Given the description of an element on the screen output the (x, y) to click on. 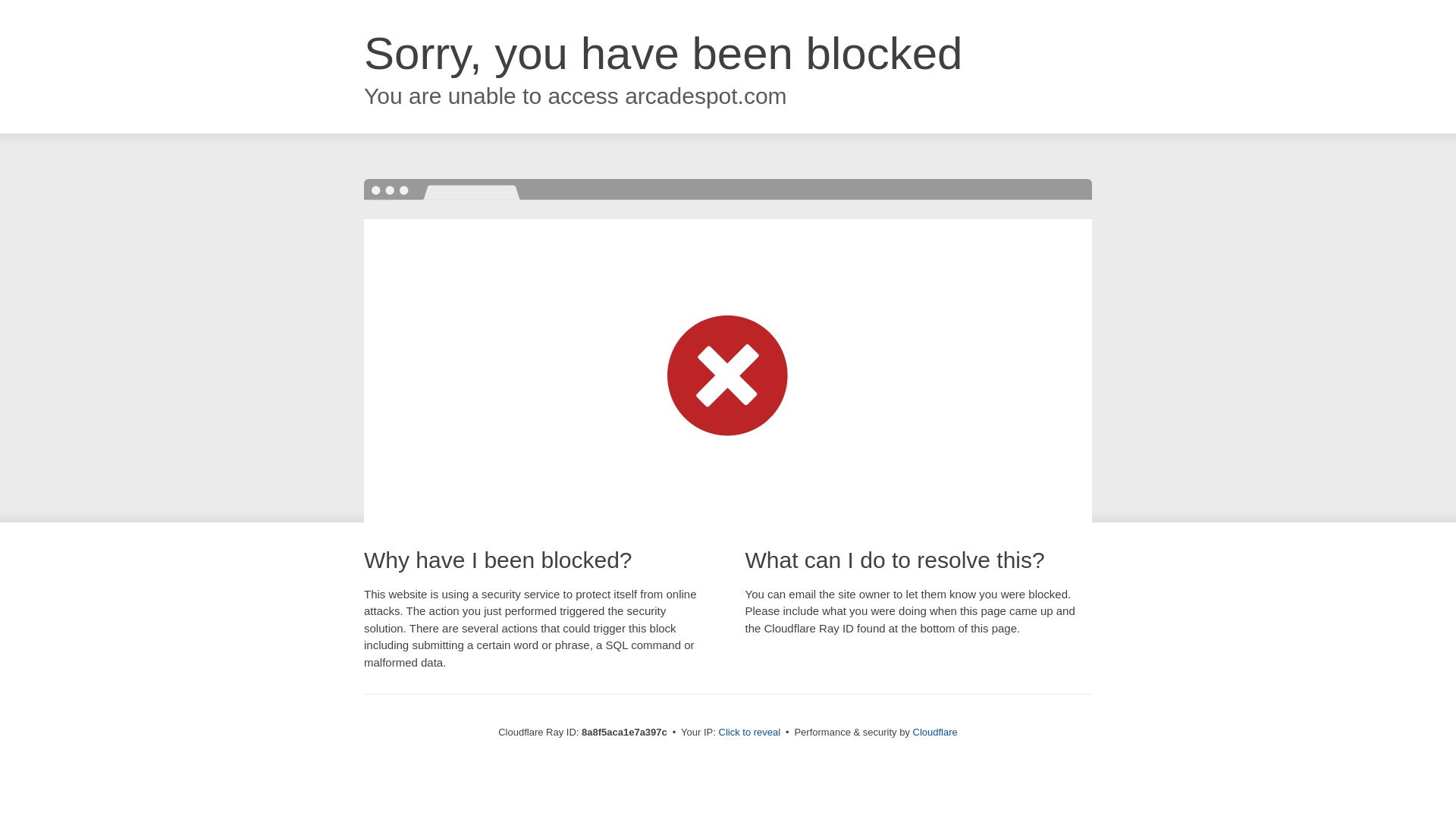
Click to reveal (749, 732)
Cloudflare (935, 731)
